Given the description of an element on the screen output the (x, y) to click on. 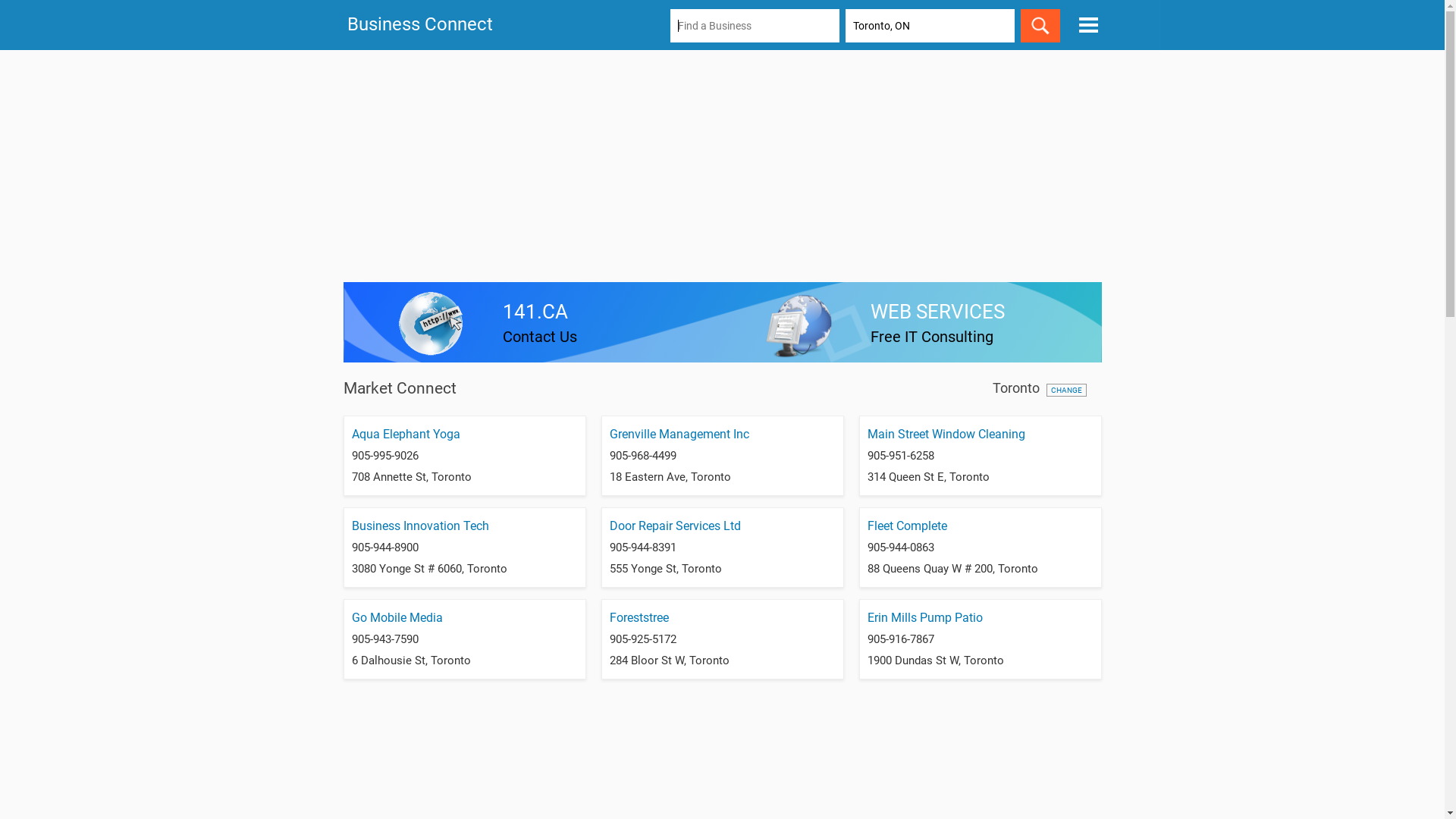
Foreststree Element type: text (638, 617)
Door Repair Services Ltd Element type: text (674, 525)
Contact Us Element type: text (539, 336)
Fleet Complete Element type: text (907, 525)
Toronto Element type: text (1014, 387)
Main Street Window Cleaning Element type: text (946, 433)
Business Connect Element type: text (419, 23)
Free IT Consulting Element type: text (931, 336)
Go Mobile Media Element type: text (396, 617)
Aqua Elephant Yoga Element type: text (405, 433)
CHANGE Element type: text (1066, 389)
Grenville Management Inc Element type: text (679, 433)
Advertisement Element type: hover (721, 168)
Erin Mills Pump Patio Element type: text (924, 617)
Business Innovation Tech Element type: text (420, 525)
